Given the description of an element on the screen output the (x, y) to click on. 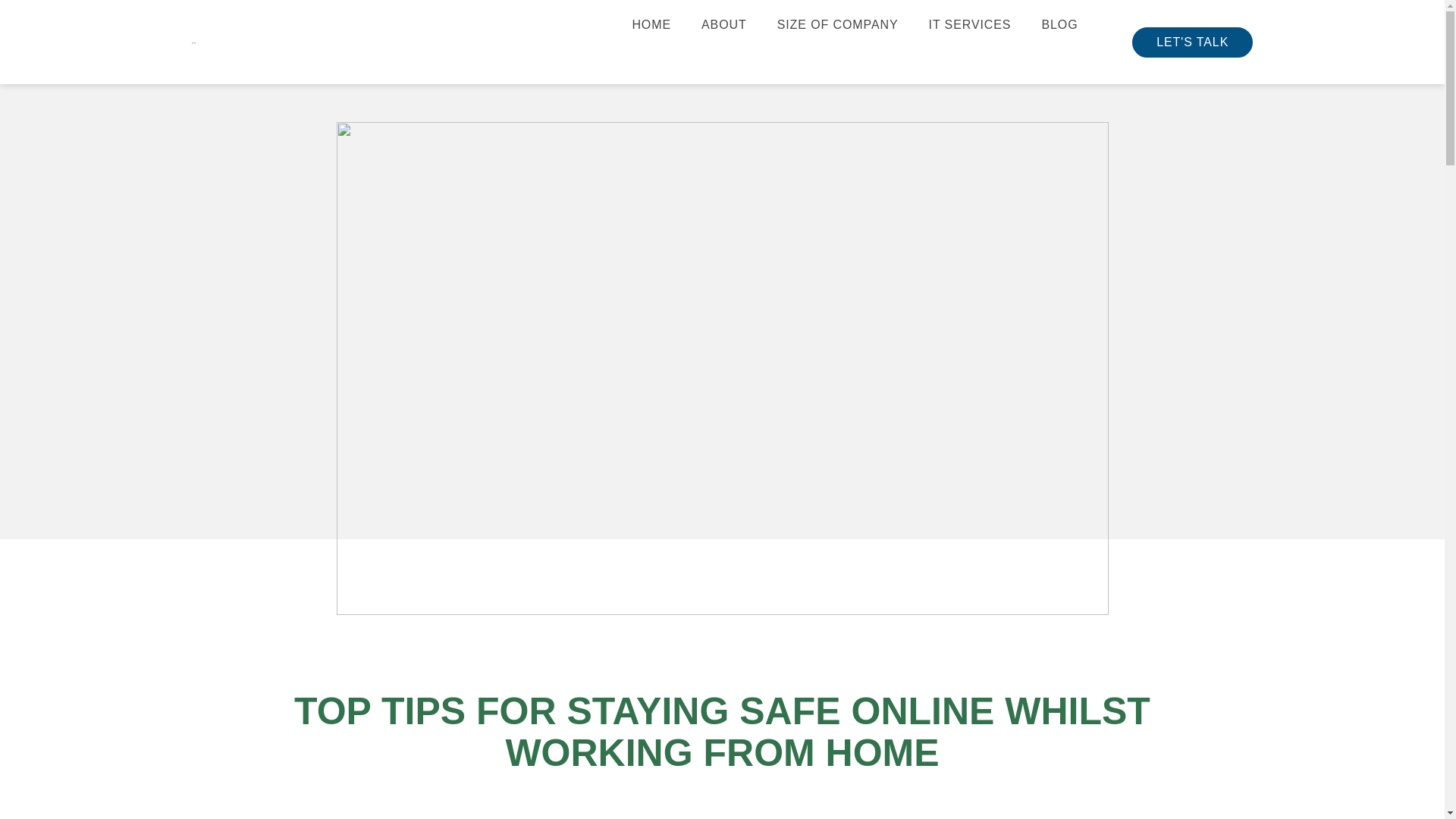
ABOUT (723, 24)
LET'S TALK (1192, 42)
BLOG (1059, 24)
HOME (650, 24)
SIZE OF COMPANY (837, 24)
IT SERVICES (970, 24)
